Given the description of an element on the screen output the (x, y) to click on. 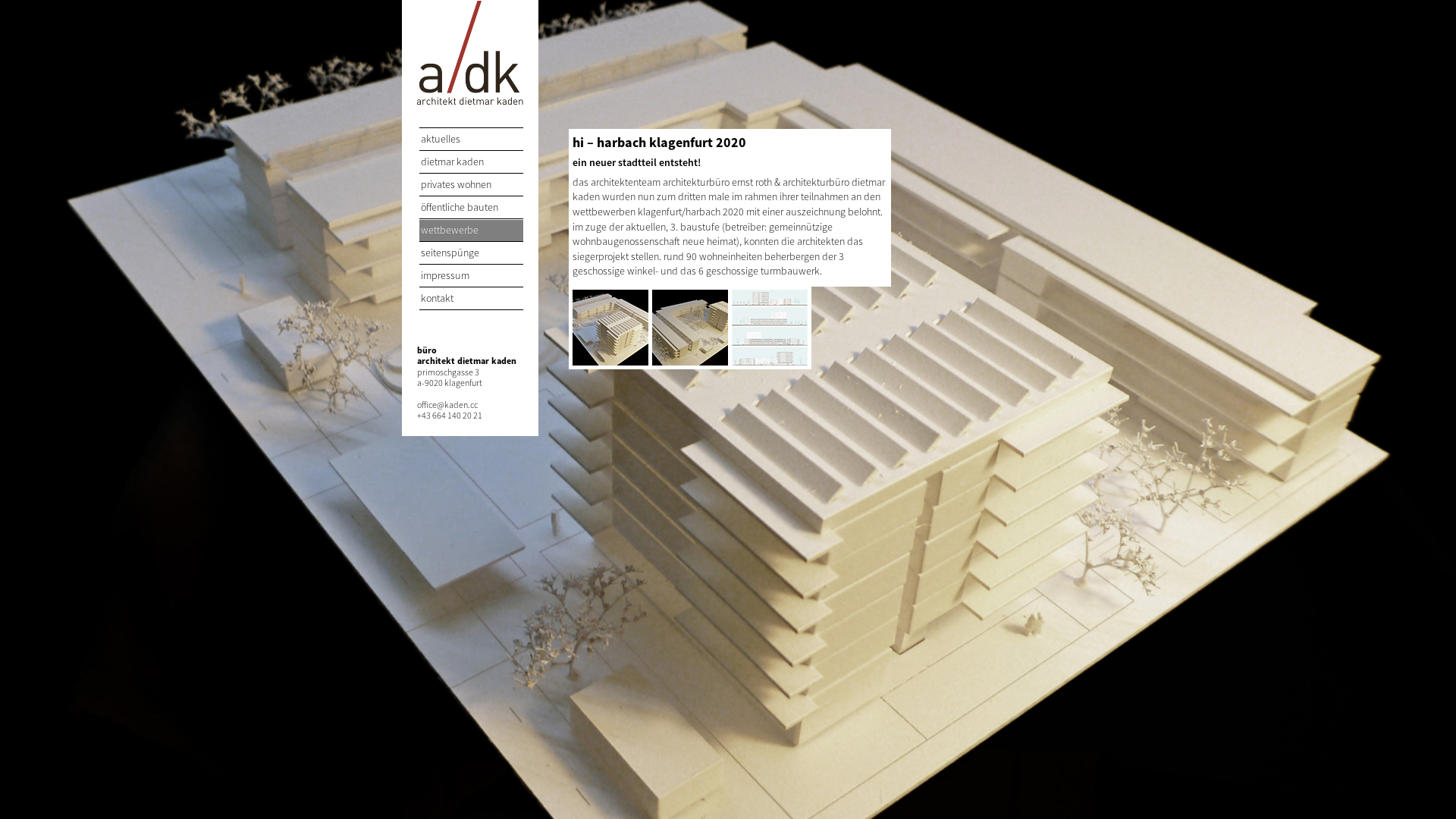
privates wohnen Element type: text (471, 185)
wettbewerbe Element type: text (471, 230)
impressum Element type: text (471, 276)
aktuelles Element type: text (471, 139)
kontakt Element type: text (471, 299)
